Given the description of an element on the screen output the (x, y) to click on. 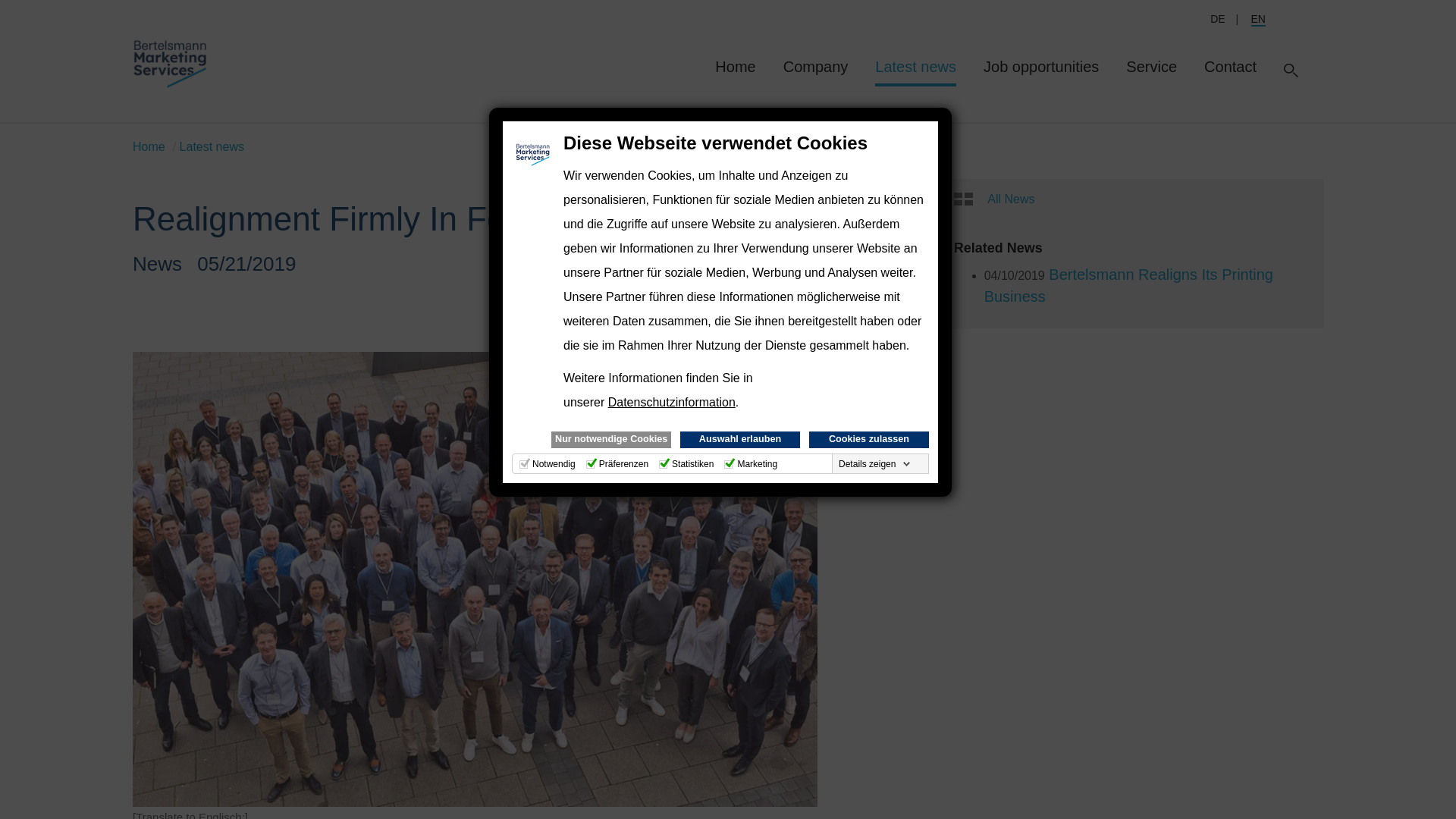
Auswahl erlauben (739, 439)
Datenschutzinformation (671, 401)
Cookies zulassen (868, 439)
Nur notwendige Cookies (611, 439)
Details zeigen (874, 463)
